Given the description of an element on the screen output the (x, y) to click on. 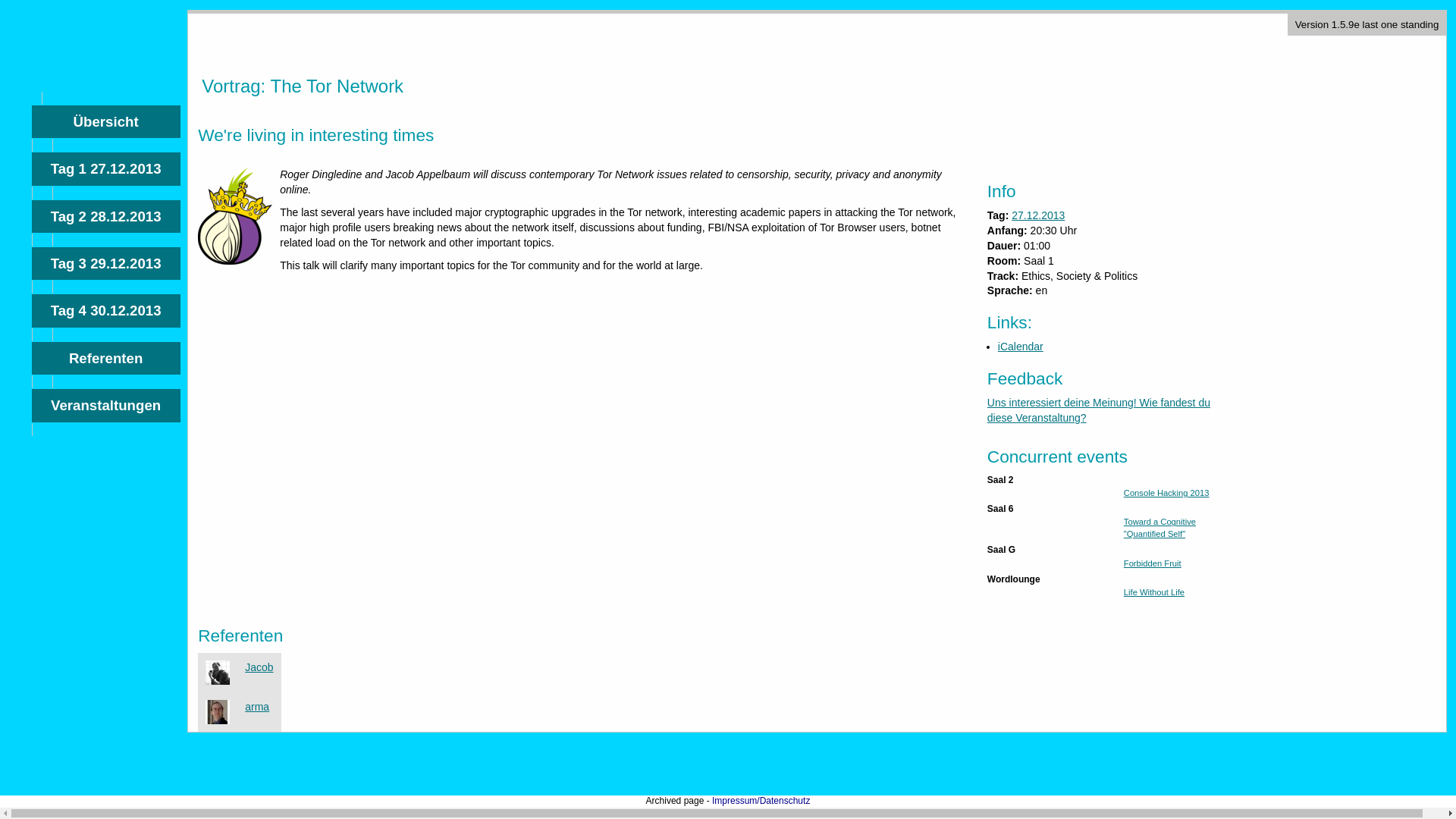
Veranstaltungen (106, 405)
translation missing: de.public.schedule.event.room (1002, 260)
Referenten (106, 358)
Jacob (258, 666)
arma (256, 706)
Life Without Life (1154, 592)
iCalendar (1020, 346)
Toward a Cognitive "Quantified Self" (1159, 527)
27.12.2013 (1037, 215)
